Given the description of an element on the screen output the (x, y) to click on. 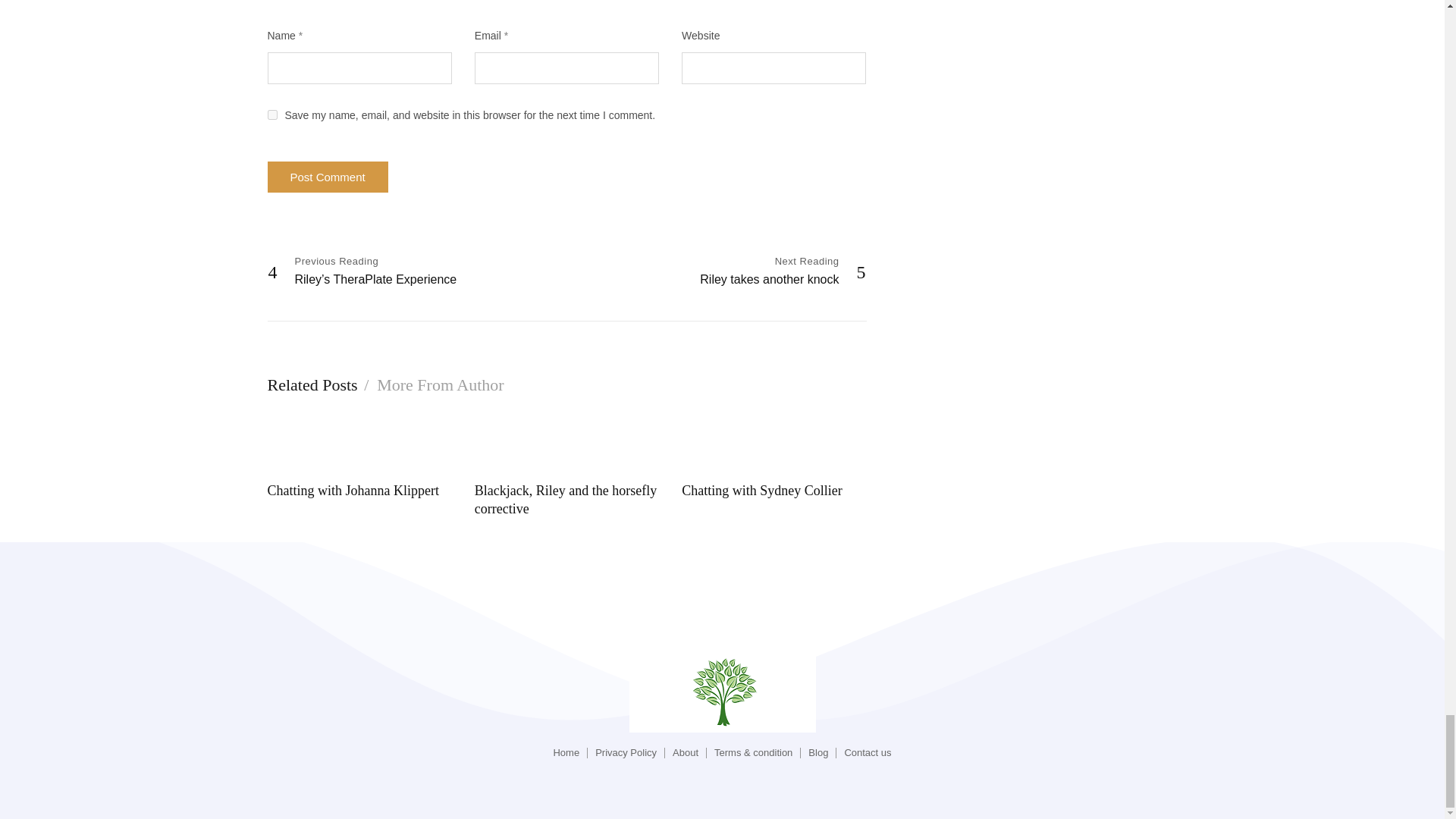
Post Comment (326, 176)
yes (271, 114)
